Given the description of an element on the screen output the (x, y) to click on. 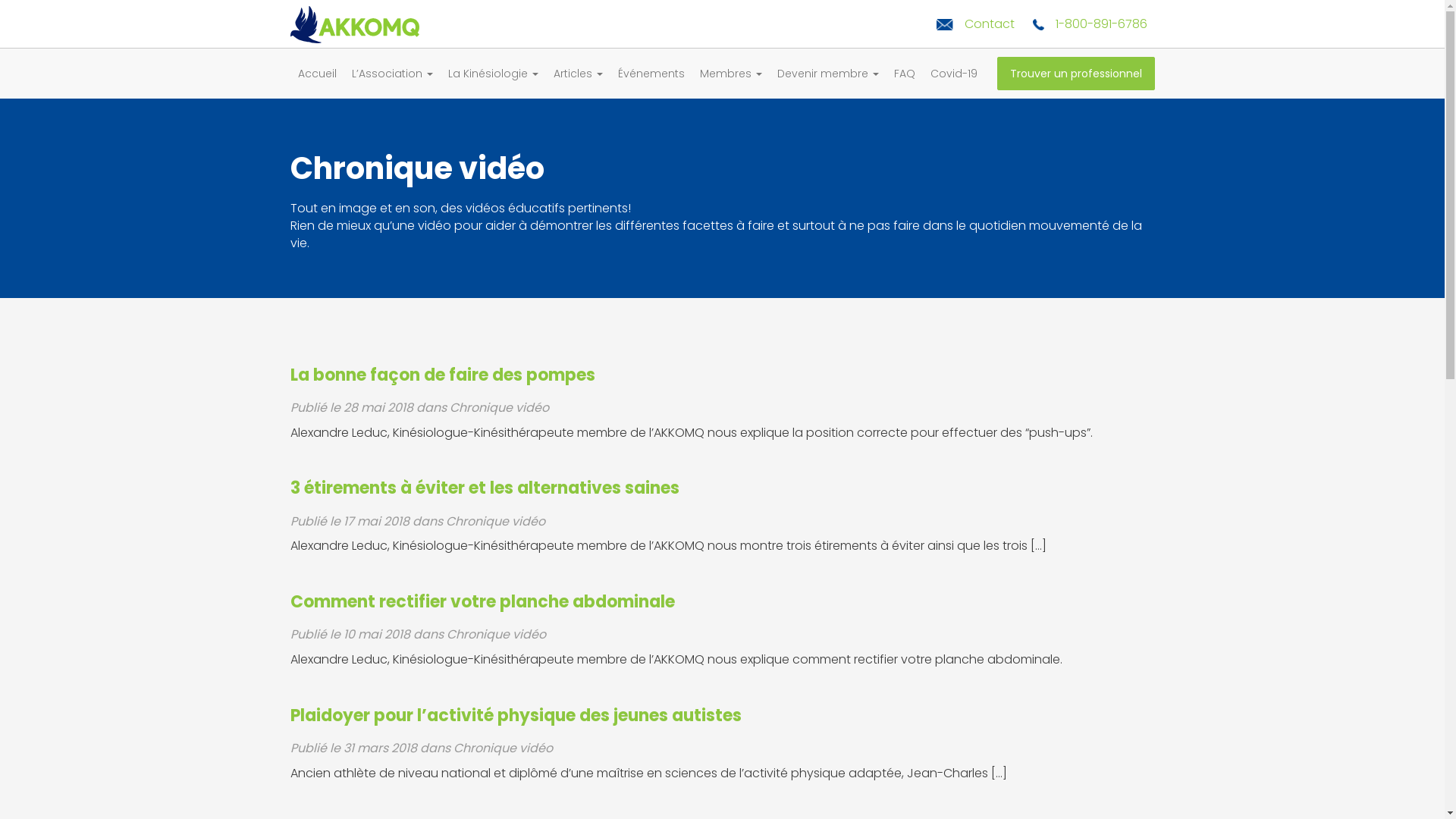
Devenir membre Element type: text (826, 73)
Comment rectifier votre planche abdominale Element type: text (481, 601)
Trouver un professionnel Element type: text (1075, 73)
Contact Element type: text (975, 23)
Articles Element type: text (578, 73)
Covid-19 Element type: text (953, 73)
1-800-891-6786 Element type: text (1089, 23)
Accueil Element type: text (316, 73)
Membres Element type: text (729, 73)
FAQ Element type: text (903, 73)
